Given the description of an element on the screen output the (x, y) to click on. 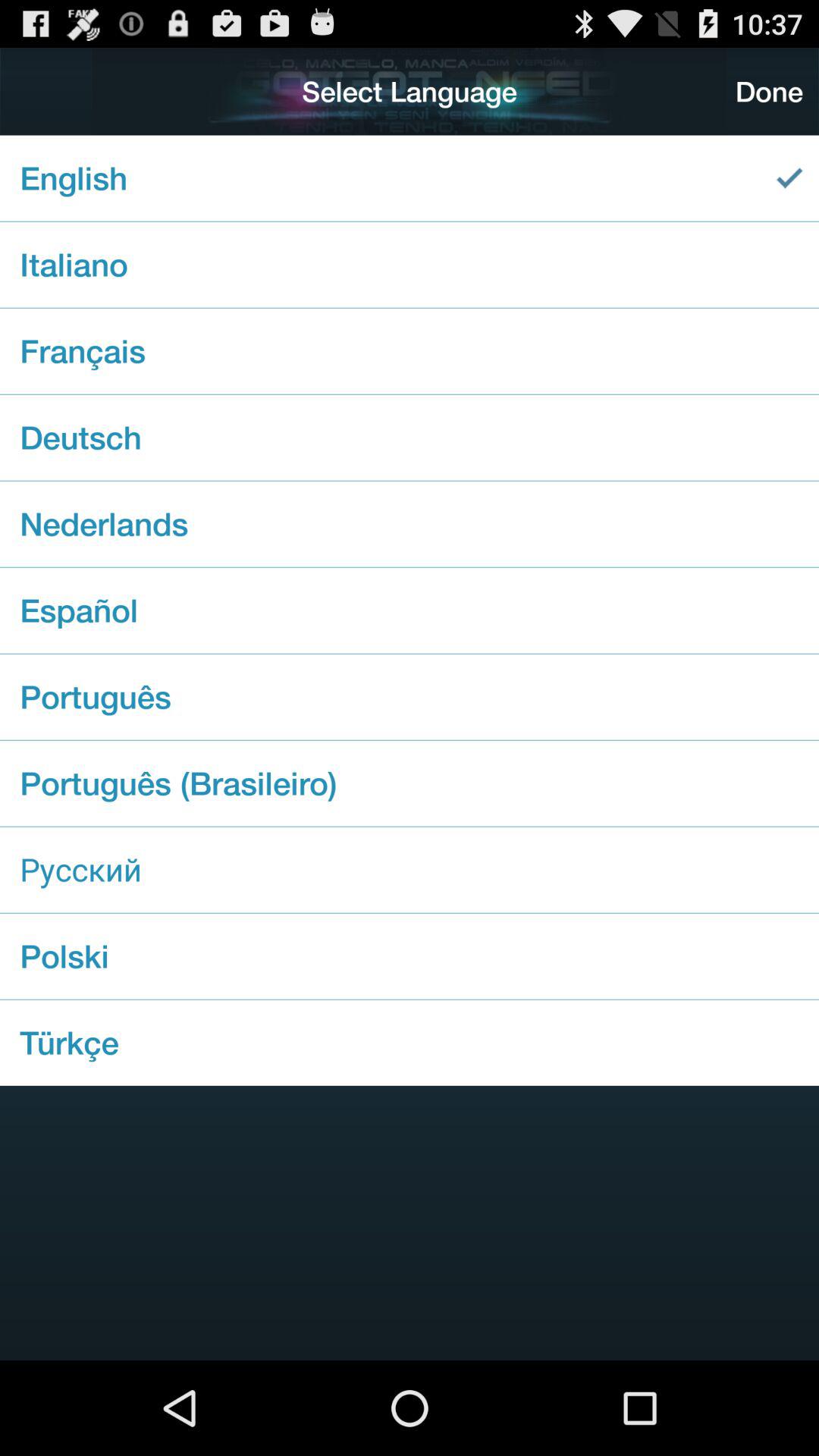
choose nederlands item (409, 524)
